Given the description of an element on the screen output the (x, y) to click on. 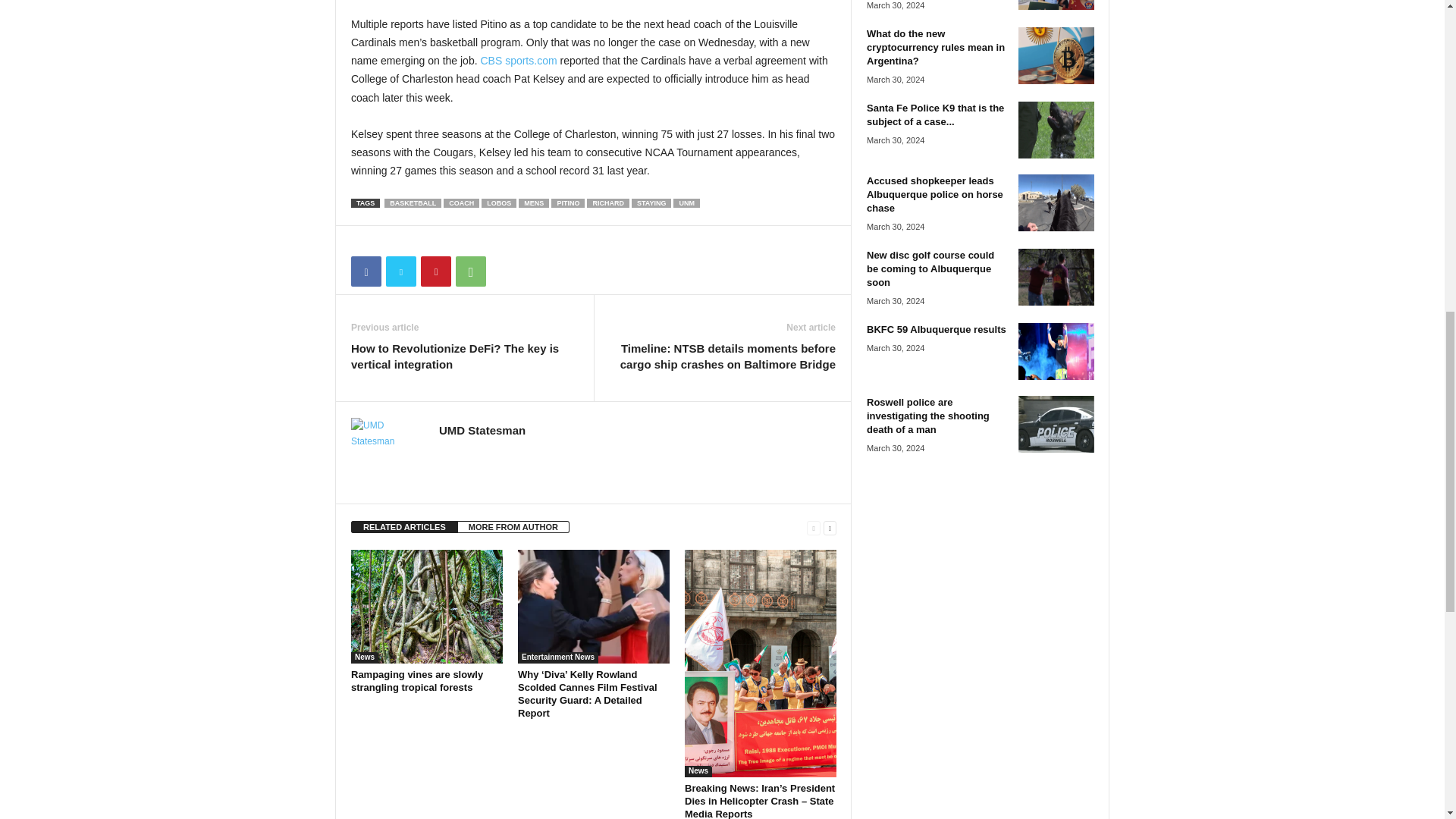
RICHARD (607, 203)
PITINO (568, 203)
LOBOS (498, 203)
Twitter (400, 271)
Facebook (365, 271)
UNM (686, 203)
CBS sports.com (518, 60)
MENS (533, 203)
COACH (461, 203)
bottomFacebookLike (390, 241)
BASKETBALL (412, 203)
STAYING (651, 203)
